Given the description of an element on the screen output the (x, y) to click on. 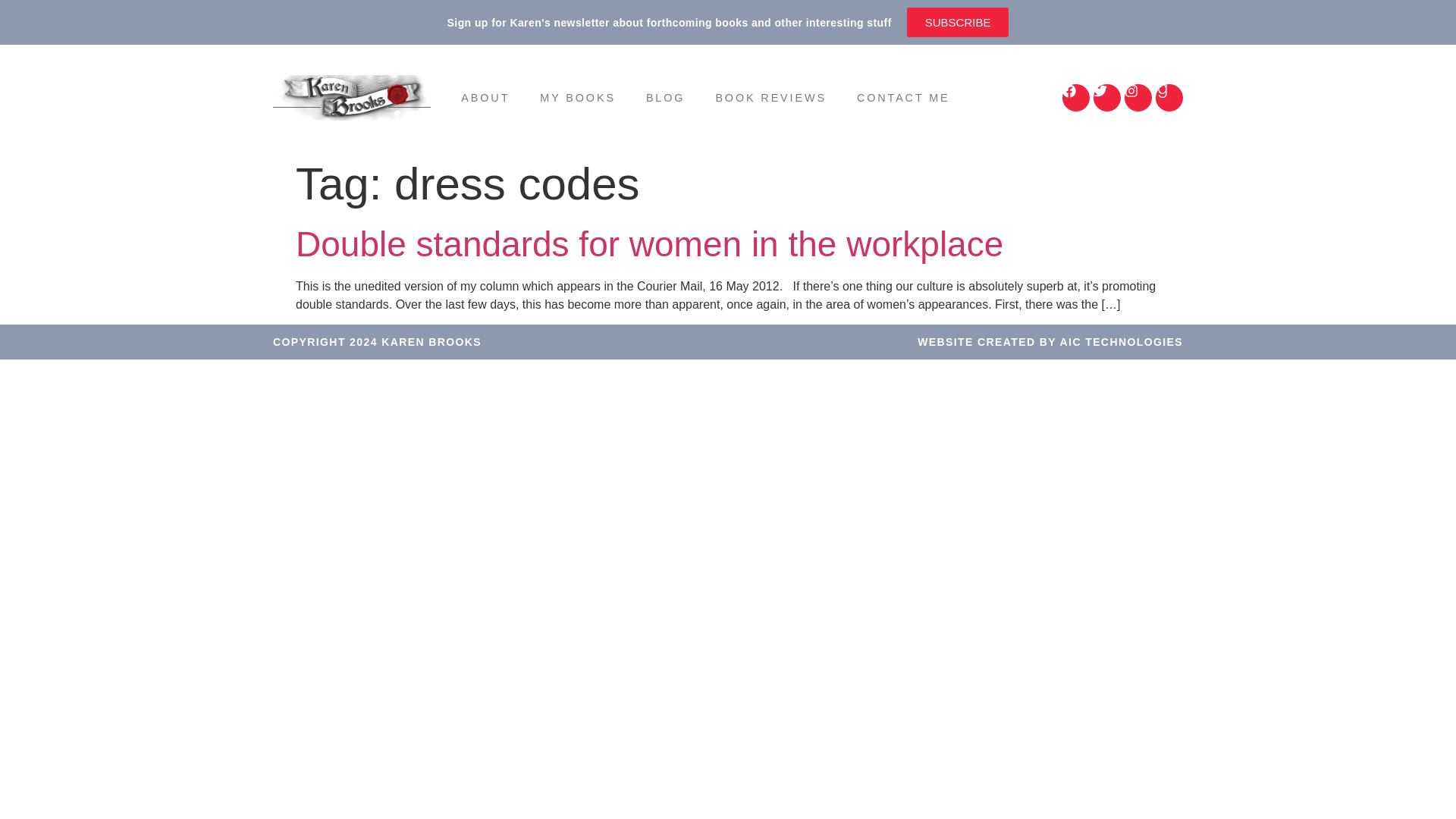
BLOG (665, 97)
MY BOOKS (577, 97)
SUBSCRIBE (958, 21)
AIC TECHNOLOGIES (1120, 341)
Double standards for women in the workplace (649, 243)
ABOUT (484, 97)
BOOK REVIEWS (770, 97)
CONTACT ME (903, 97)
